Given the description of an element on the screen output the (x, y) to click on. 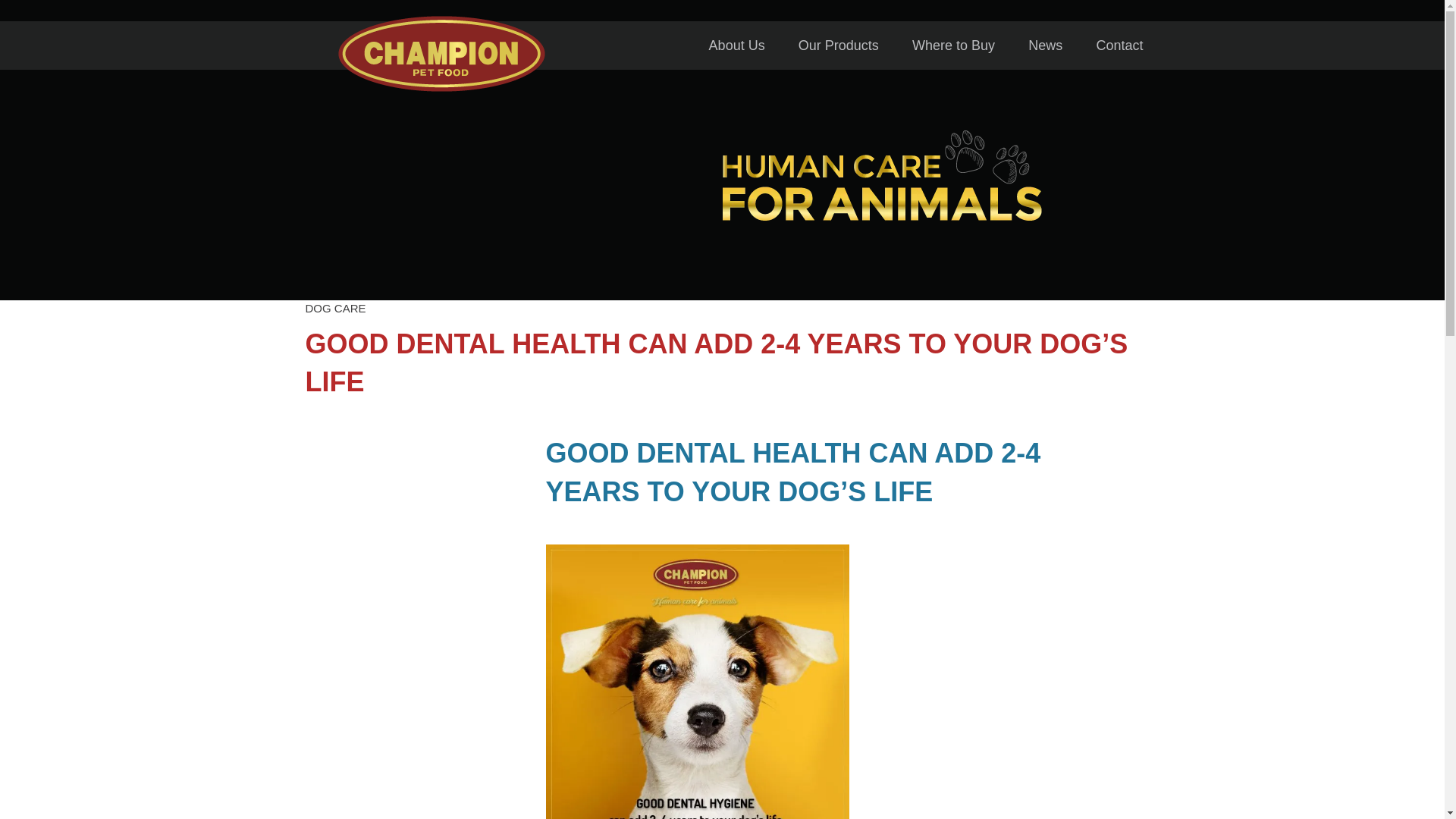
Our Products (838, 45)
Champion Pet Food (441, 88)
News (1045, 45)
Where to Buy (953, 45)
About Us (736, 45)
Contact (1119, 45)
